Given the description of an element on the screen output the (x, y) to click on. 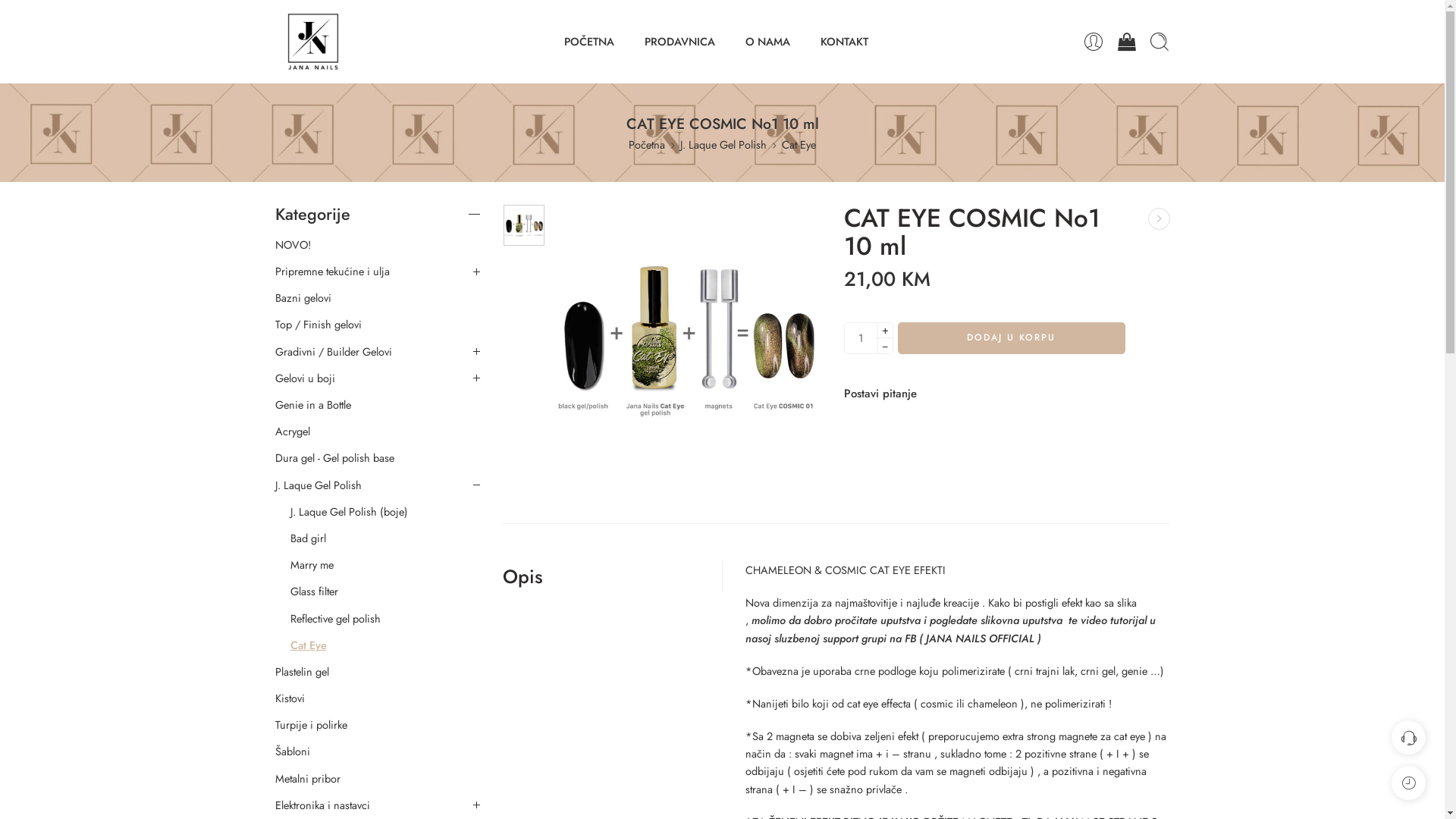
DODAJ U KORPU Element type: text (1011, 338)
Bazni gelovi Element type: text (302, 297)
J. Laque Gel Polish Element type: text (723, 144)
Gelovi u boji Element type: text (304, 377)
+ Element type: text (884, 330)
Kistovi Element type: text (289, 698)
COSMIC011.jpg Element type: hover (523, 224)
Glass filter Element type: text (313, 591)
Elektronika i nastavci Element type: text (321, 804)
J. Laque Gel Polish Element type: text (317, 484)
Marry me Element type: text (310, 564)
Cat Eye Element type: text (307, 644)
Genie in a Bottle Element type: text (312, 404)
Acrygel Element type: text (291, 431)
Opis Element type: text (522, 575)
J. Laque Gel Polish (boje) Element type: text (348, 511)
Bad girl Element type: text (307, 538)
Request a Call Back Element type: hover (1408, 737)
Turpije i polirke Element type: text (310, 724)
Top / Finish gelovi Element type: text (317, 324)
Dura gel - Gel polish base Element type: text (333, 457)
Recently Viewed Element type: hover (1408, 782)
Gradivni / Builder Gelovi Element type: text (332, 351)
Jana Nails BiH -  Element type: hover (312, 41)
CAT EYE CHAMELEON No1 10 ml Element type: hover (1159, 218)
O NAMA Element type: text (767, 41)
Pretraga Element type: hover (1158, 41)
Cat Eye Element type: text (798, 144)
Prijavite se / Registrujte se Element type: hover (1092, 41)
Plastelin gel Element type: text (301, 671)
KONTAKT Element type: text (844, 41)
Reflective gel polish Element type: text (334, 618)
Postavi pitanje Element type: text (879, 393)
Korpa Element type: hover (1126, 41)
COSMIC011.jpg Element type: hover (686, 338)
NOVO! Element type: text (292, 244)
PRODAVNICA Element type: text (679, 41)
Metalni pribor Element type: text (306, 778)
